Given the description of an element on the screen output the (x, y) to click on. 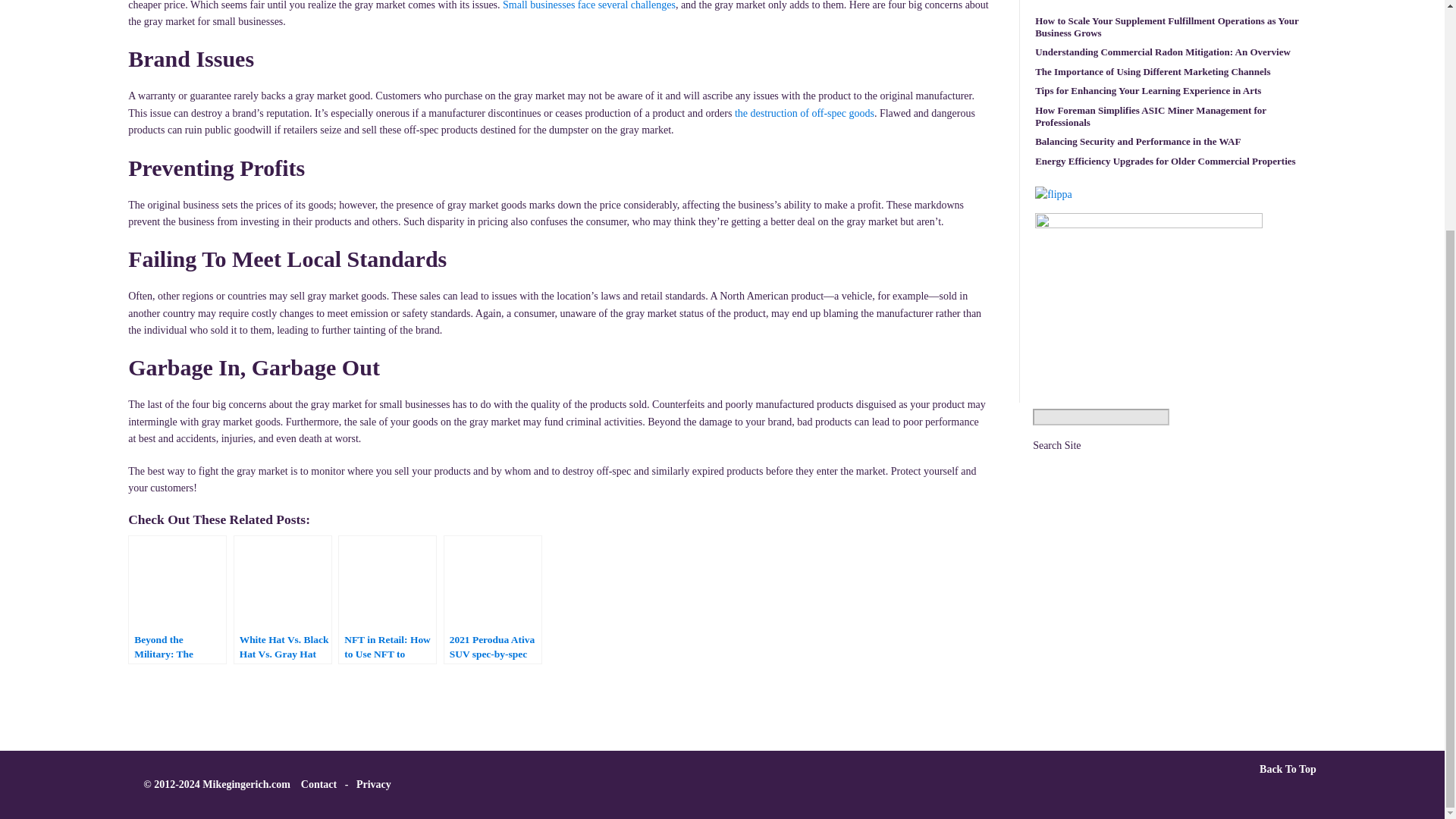
the destruction of off-spec goods (805, 112)
The Importance of Using Different Marketing Channels (1152, 75)
Energy Efficiency Upgrades for Older Commercial Properties (1165, 165)
Tips for Enhancing Your Learning Experience in Arts (1147, 94)
Small businesses face several challenges (588, 5)
Understanding Commercial Radon Mitigation: An Overview (1162, 55)
Balancing Security and Performance in the WAF (1137, 145)
